Given the description of an element on the screen output the (x, y) to click on. 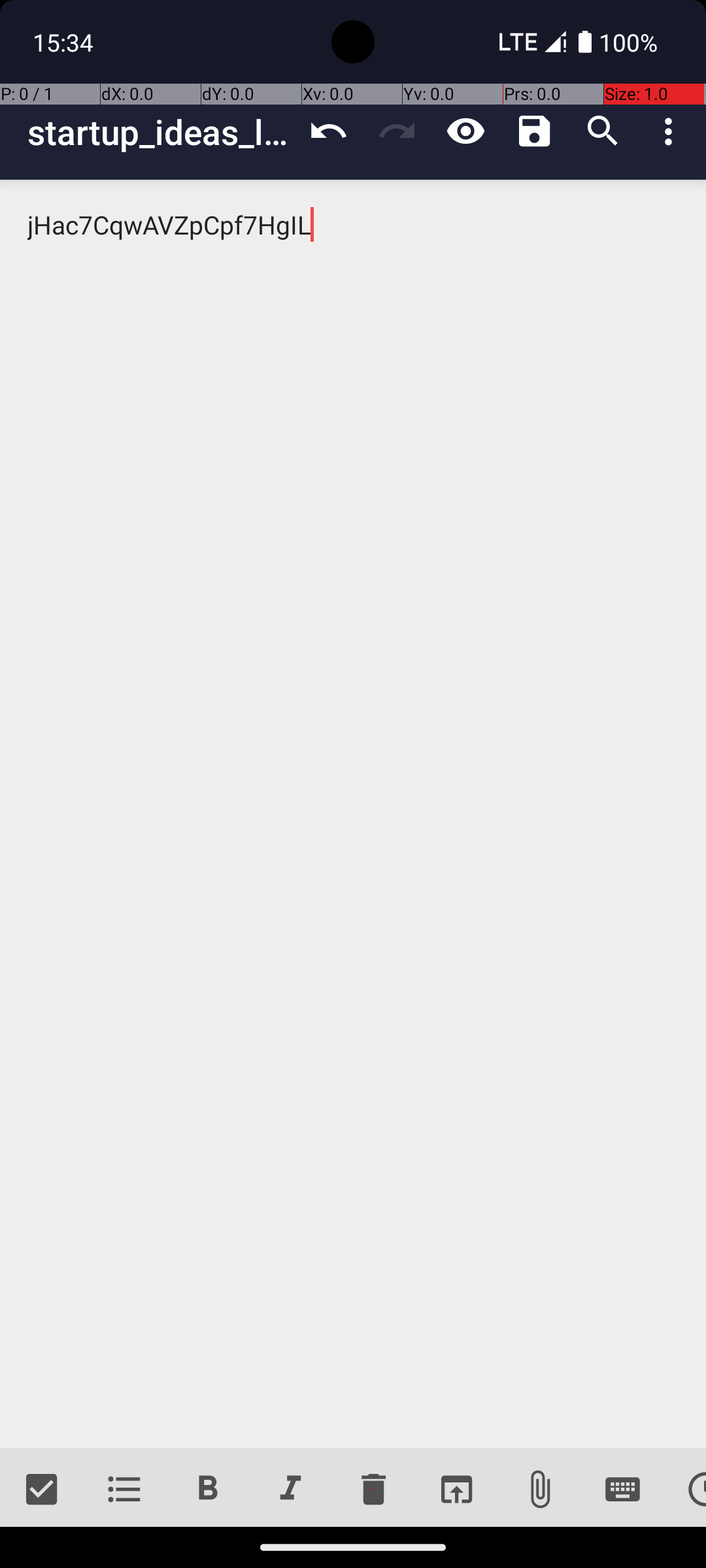
startup_ideas_launch_dqJ3 Element type: android.widget.TextView (160, 131)
jHac7CqwAVZpCpf7HgIL Element type: android.widget.EditText (353, 813)
